Given the description of an element on the screen output the (x, y) to click on. 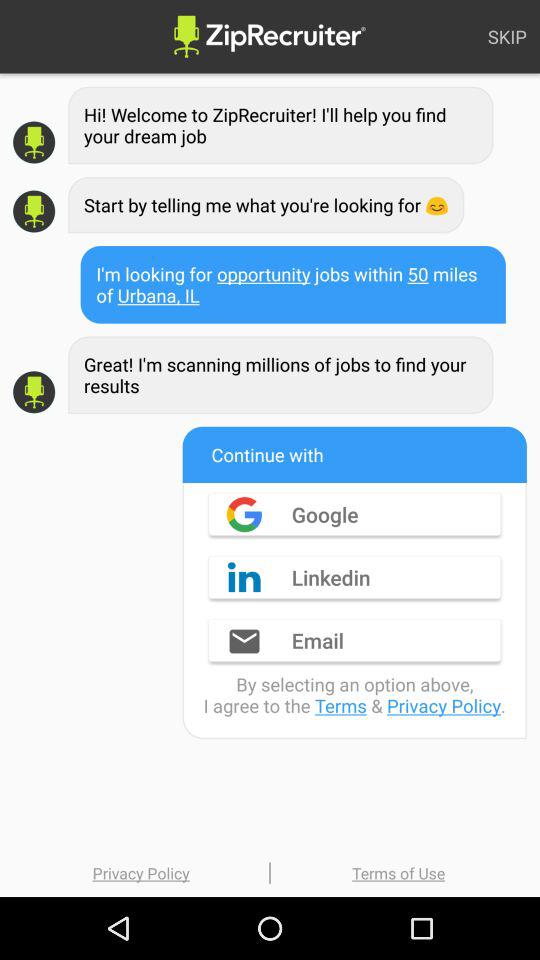
select item below the by selecting an item (398, 872)
